Given the description of an element on the screen output the (x, y) to click on. 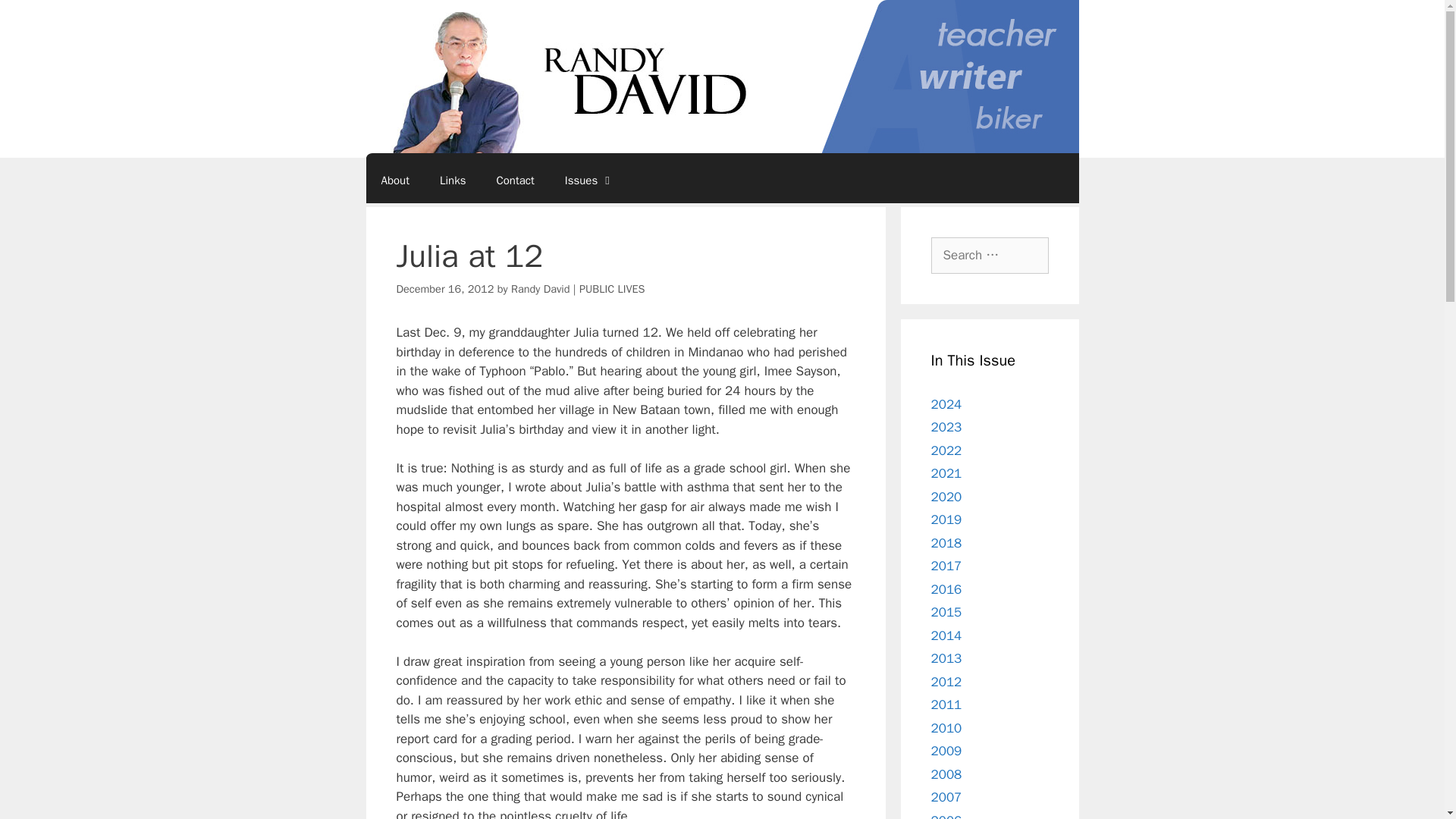
Links (452, 180)
Issues (589, 180)
About (394, 180)
Search for: (989, 255)
Contact (514, 180)
